Given the description of an element on the screen output the (x, y) to click on. 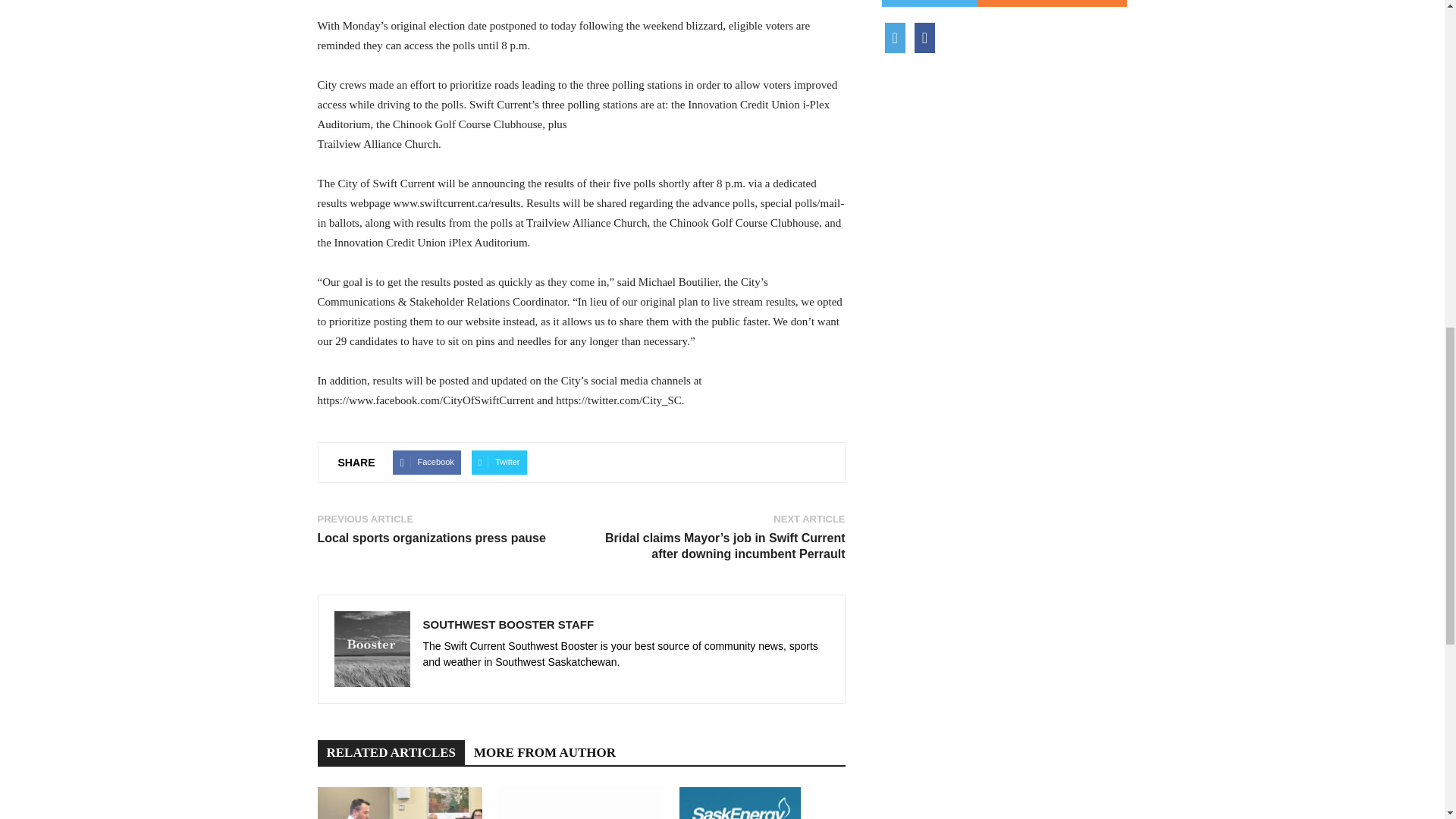
Safety announcement from SaskEnergy: Success gas flaring (761, 803)
Facebook (426, 462)
Safety announcement from SaskEnergy: Success gas flaring (739, 803)
SOUTHWEST BOOSTER STAFF (508, 624)
Twitter (499, 462)
Local sports organizations press pause (430, 537)
